Given the description of an element on the screen output the (x, y) to click on. 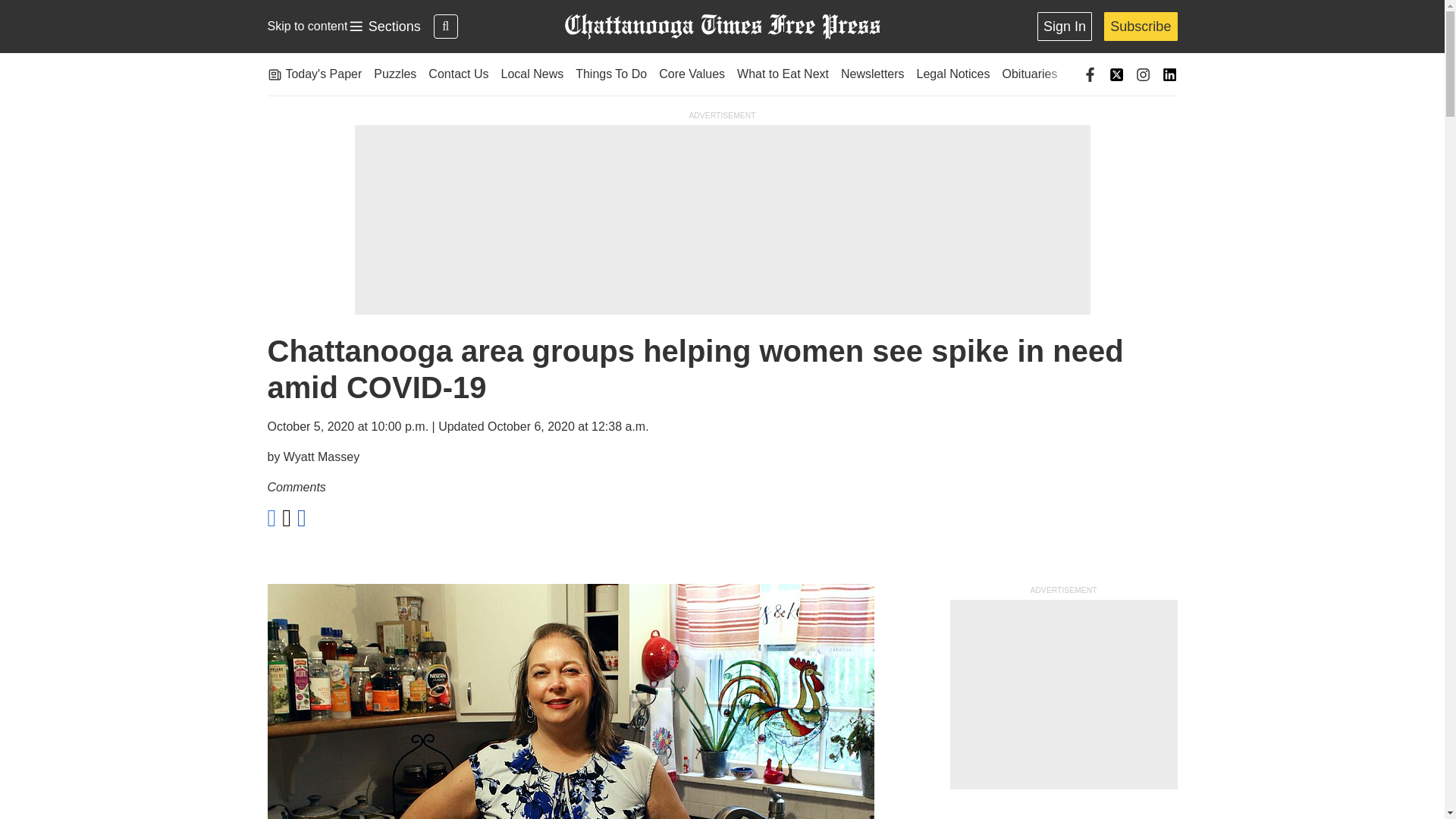
Skip to content (306, 26)
Times Free Press (721, 26)
3rd party ad content (383, 26)
